Given the description of an element on the screen output the (x, y) to click on. 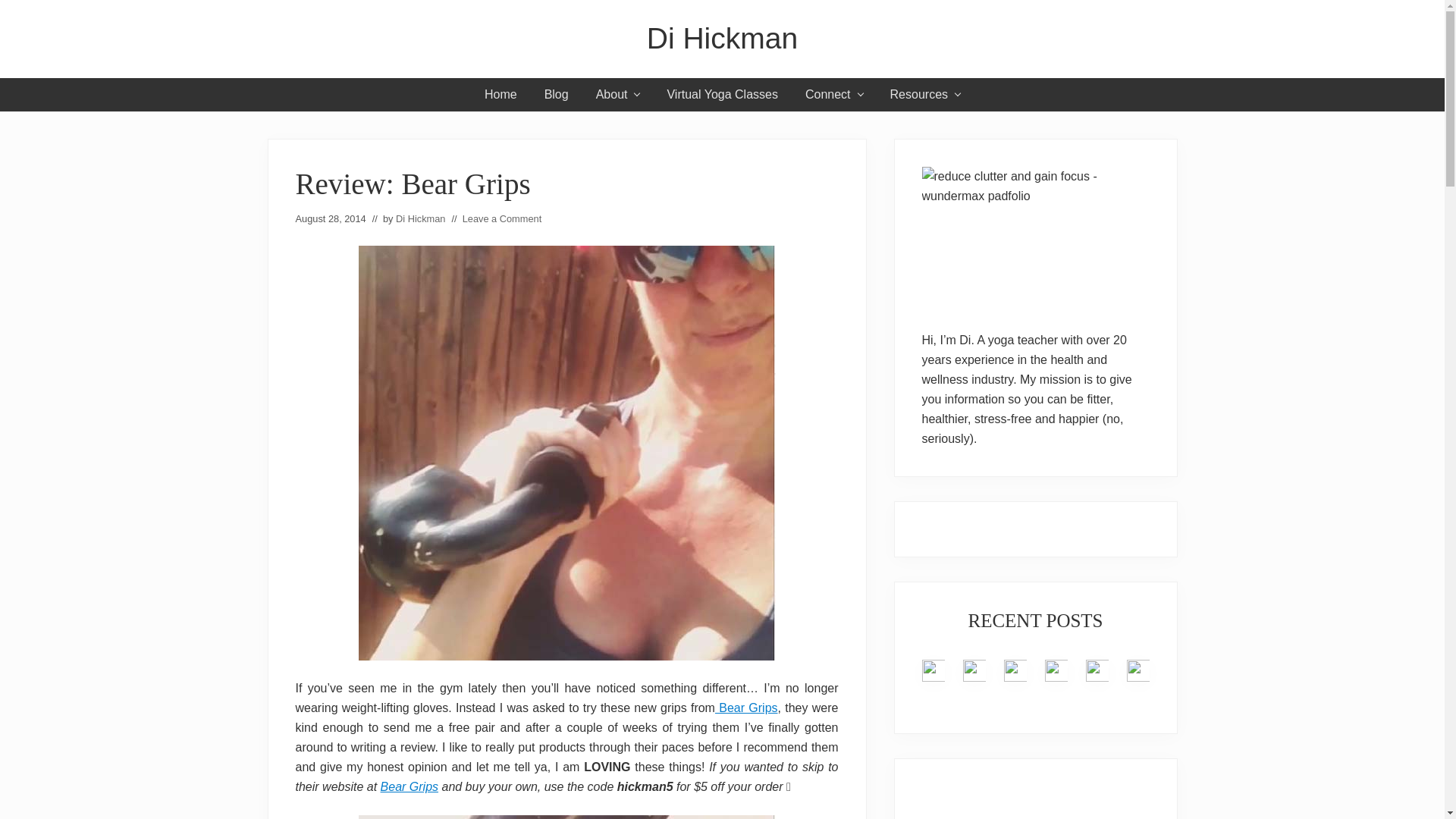
Connect (834, 94)
Resources (925, 94)
Leave a Comment (502, 218)
Di Hickman (721, 38)
Home (500, 94)
About (617, 94)
Blog (556, 94)
Virtual Yoga Classes (721, 94)
Di Hickman (420, 218)
